Given the description of an element on the screen output the (x, y) to click on. 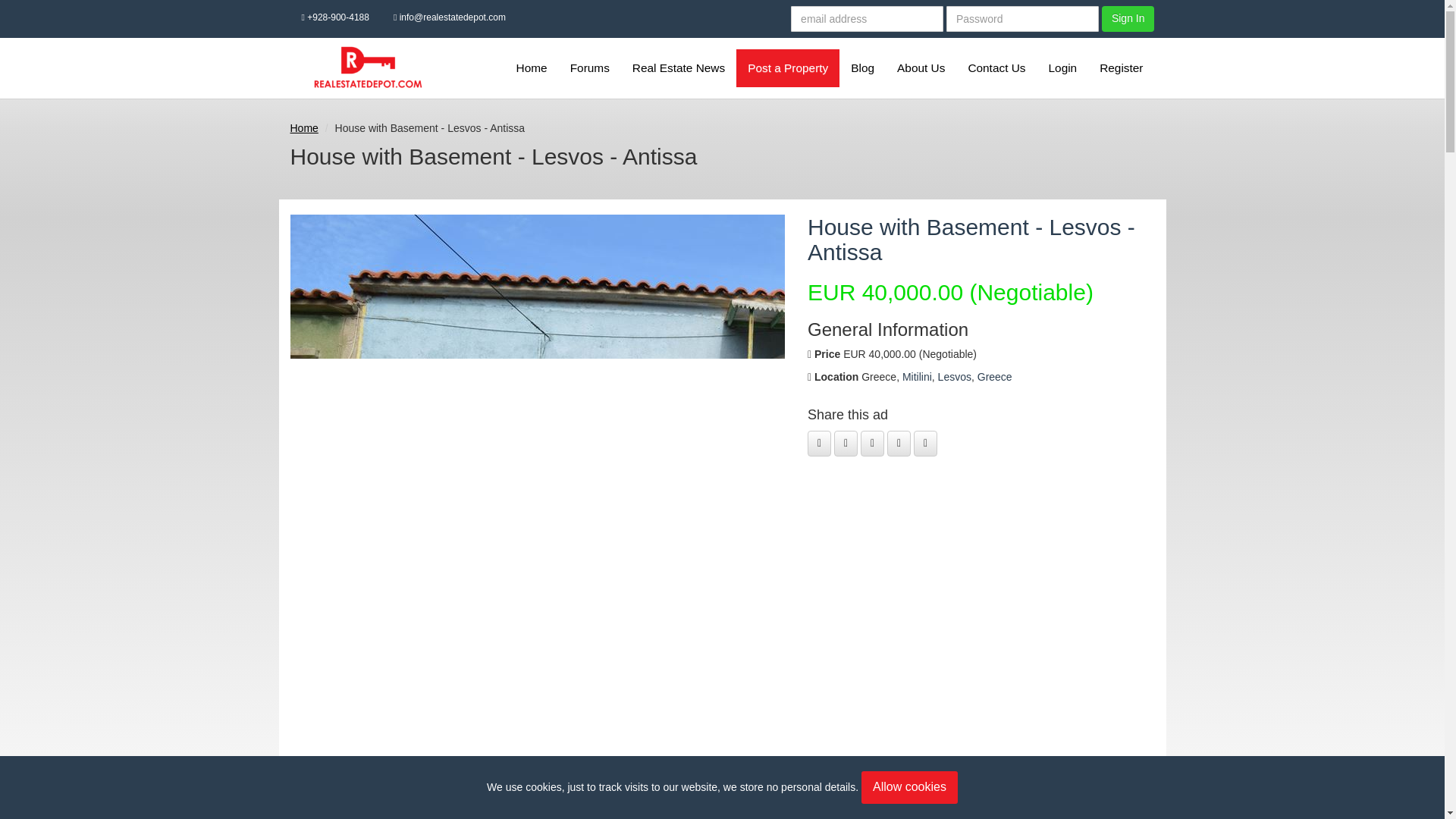
Greece (993, 377)
Contact Us (996, 67)
Lesvos (954, 377)
Mitilini (916, 377)
Register (1120, 67)
Home (532, 67)
Post a Property (788, 67)
Login (1062, 67)
House with Basement - Lesvos - Antissa (971, 239)
Real Estate News (678, 67)
